Given the description of an element on the screen output the (x, y) to click on. 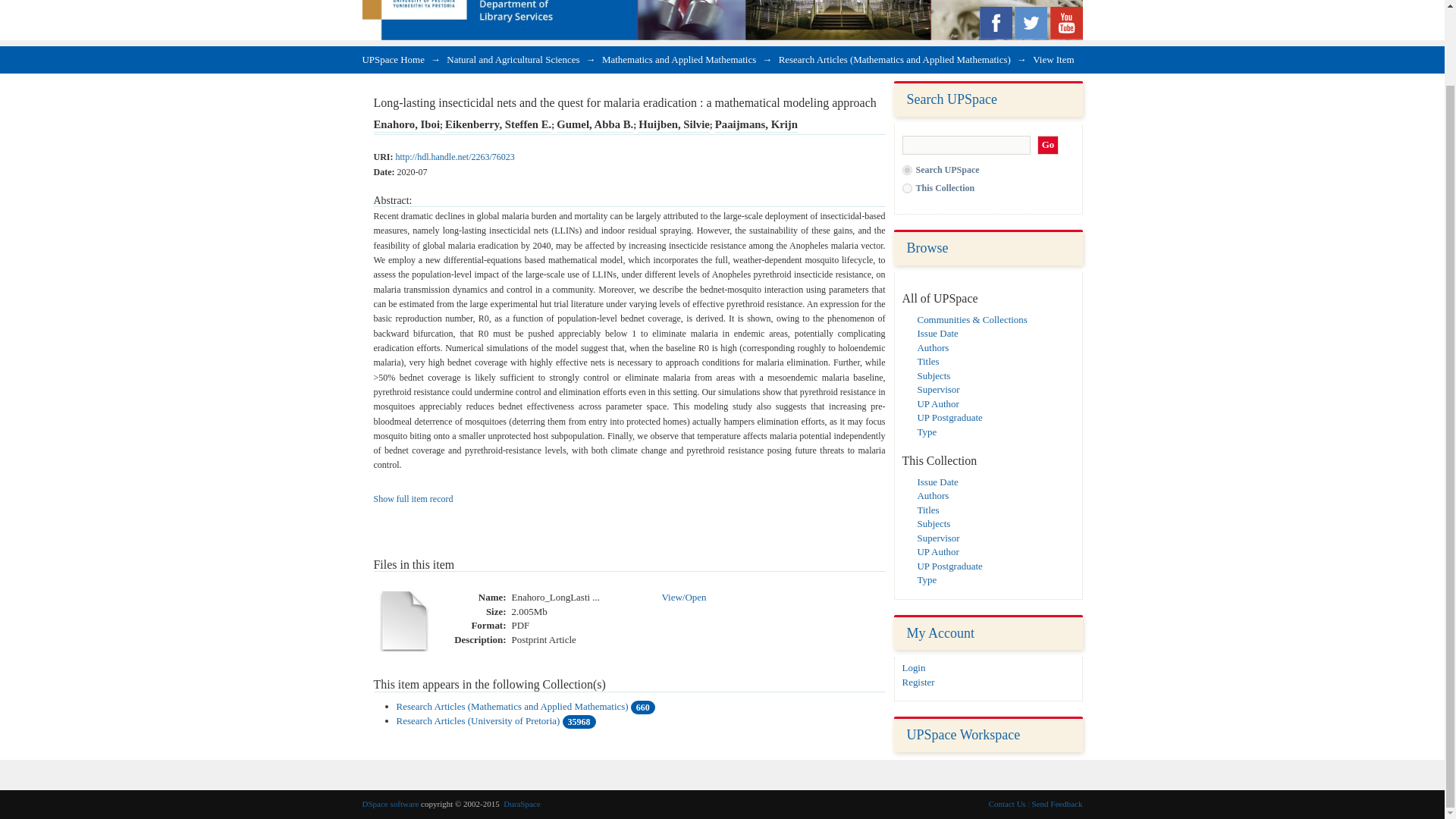
DuraSpace (521, 803)
UP Postgraduate (949, 565)
Mathematics and Applied Mathematics (678, 59)
Go (1047, 144)
UP Author (938, 551)
UP Author (938, 403)
Contact Us (1007, 803)
UPSpace Home (393, 59)
Authors (933, 347)
Send Feedback (1057, 803)
